Given the description of an element on the screen output the (x, y) to click on. 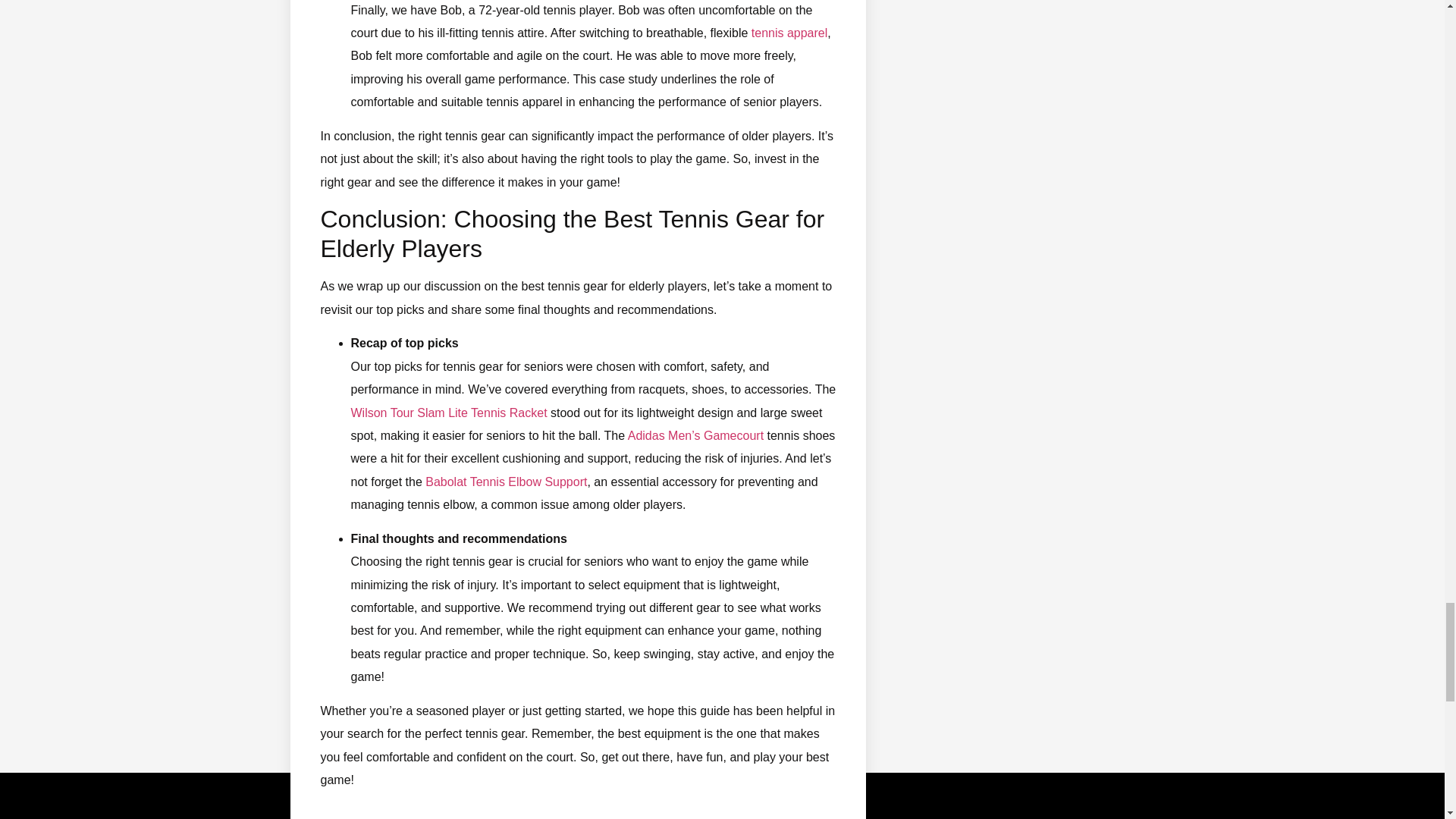
tennis apparel (789, 32)
Babolat Tennis Elbow Support (505, 481)
Wilson Tour Slam Lite Tennis Racket (448, 412)
